Given the description of an element on the screen output the (x, y) to click on. 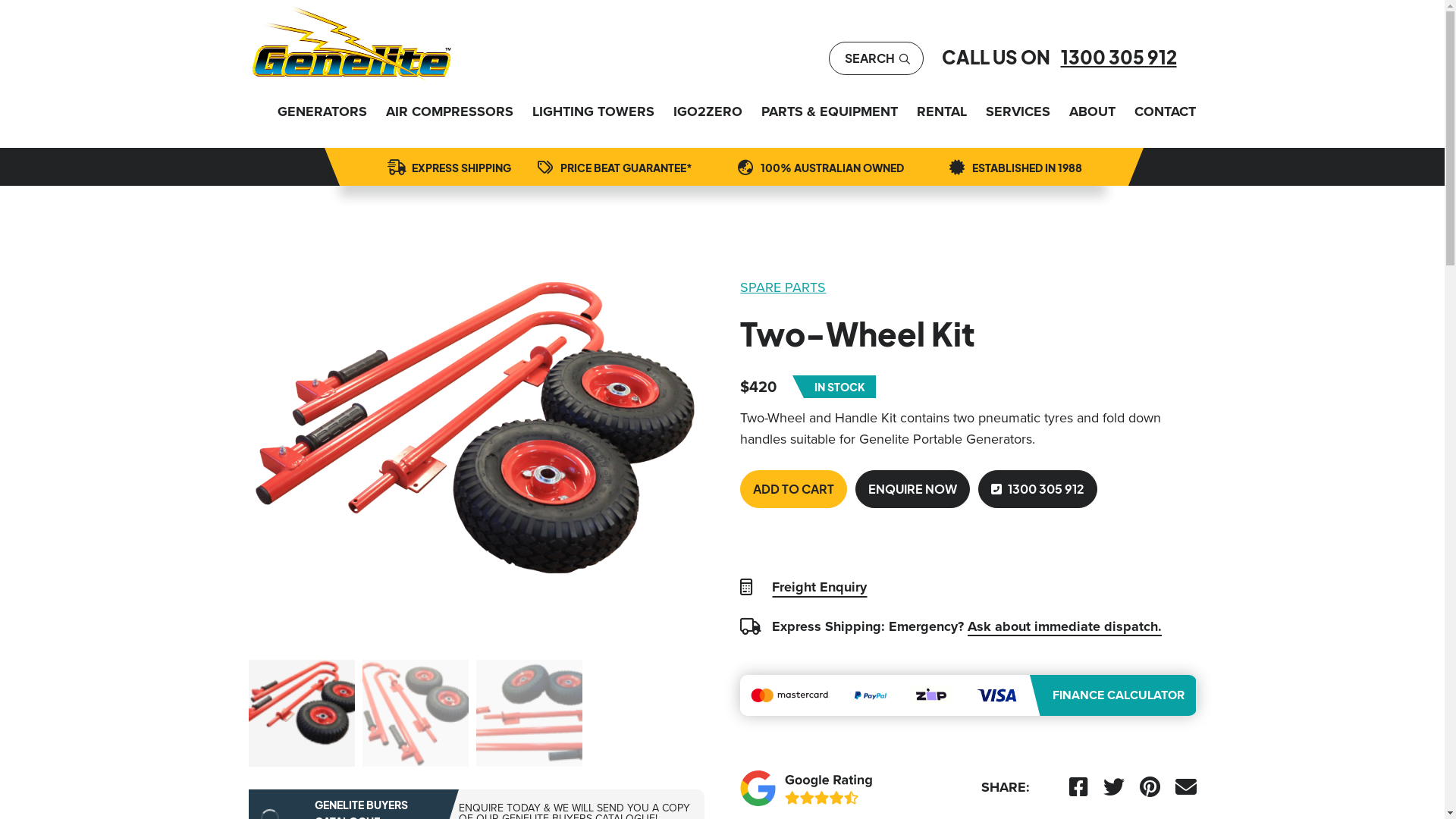
LIGHTING TOWERS Element type: text (593, 111)
SEARCH Element type: text (875, 58)
AIR COMPRESSORS Element type: text (448, 111)
Freight Enquiry Element type: text (818, 586)
SPARE PARTS Element type: text (967, 287)
SERVICES Element type: text (1017, 111)
ENQUIRE NOW Element type: text (912, 489)
FINANCE CALCULATOR Element type: text (967, 694)
Ask about immediate dispatch. Element type: text (1064, 626)
ADD TO CART Element type: text (793, 489)
CONTACT Element type: text (1164, 111)
GENERATORS Element type: text (322, 111)
PARTS & EQUIPMENT Element type: text (829, 111)
1300 305 912 Element type: text (1118, 56)
RENTAL Element type: text (941, 111)
1300 305 912 Element type: text (1037, 489)
ABOUT Element type: text (1092, 111)
Untitled design (1) Element type: hover (472, 464)
IGO2ZERO Element type: text (707, 111)
